Given the description of an element on the screen output the (x, y) to click on. 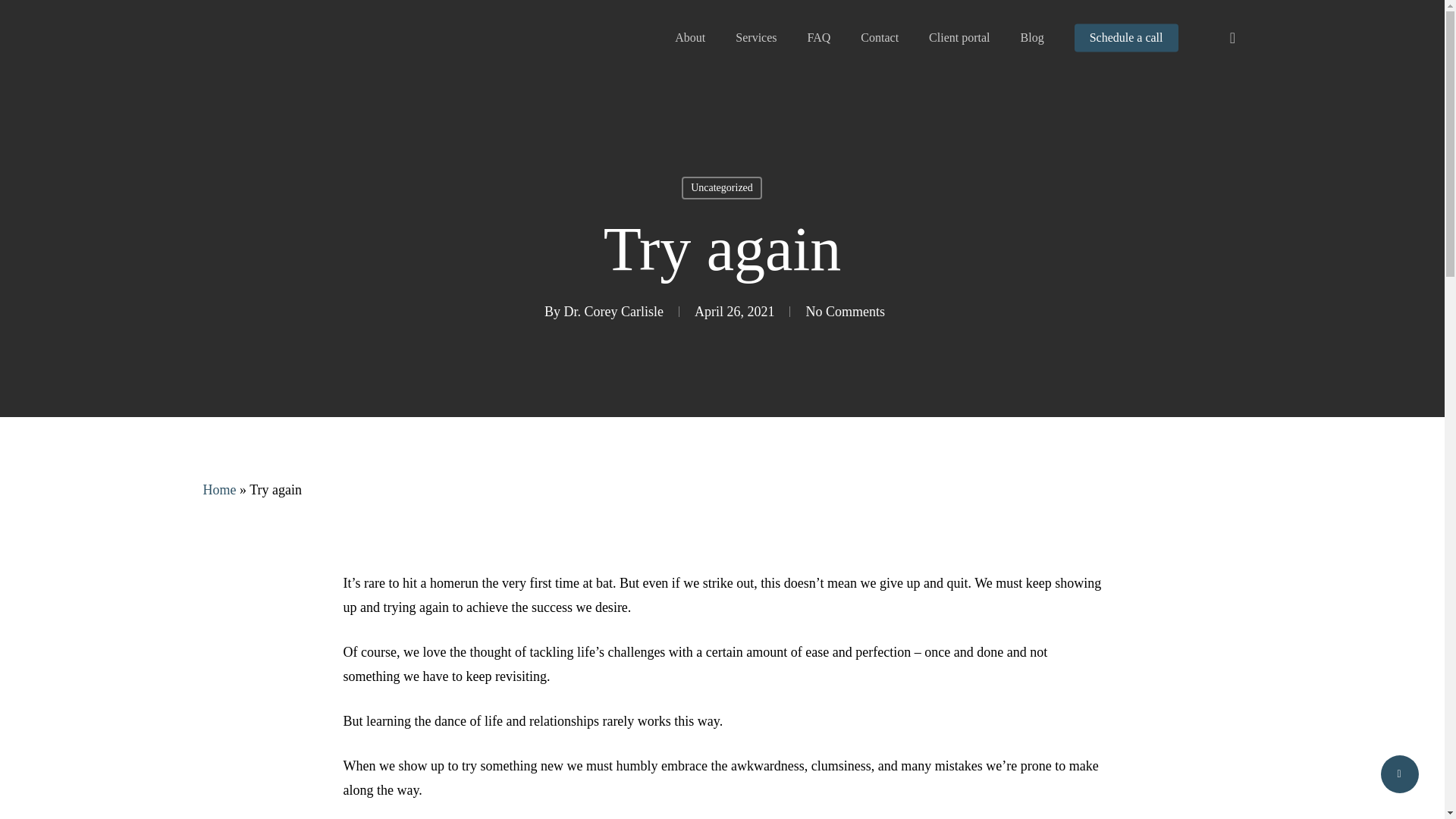
Client portal (959, 37)
FAQ (817, 37)
Contact (879, 37)
About (689, 37)
Services (755, 37)
Posts by Dr. Corey Carlisle (613, 311)
